Given the description of an element on the screen output the (x, y) to click on. 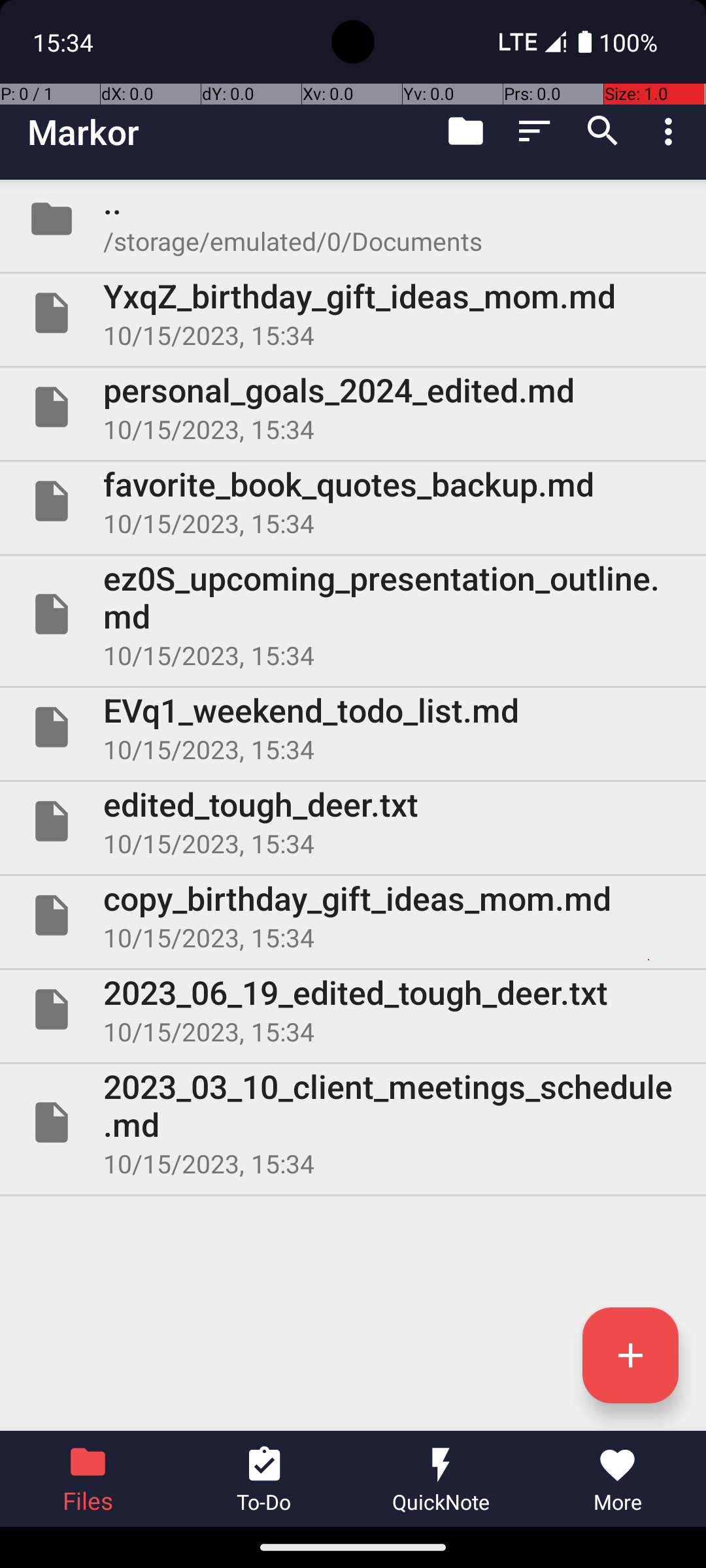
File YxqZ_birthday_gift_ideas_mom.md  Element type: android.widget.LinearLayout (353, 312)
File personal_goals_2024_edited.md  Element type: android.widget.LinearLayout (353, 406)
File favorite_book_quotes_backup.md  Element type: android.widget.LinearLayout (353, 500)
File ez0S_upcoming_presentation_outline.md  Element type: android.widget.LinearLayout (353, 613)
File EVq1_weekend_todo_list.md  Element type: android.widget.LinearLayout (353, 726)
File edited_tough_deer.txt  Element type: android.widget.LinearLayout (353, 821)
File copy_birthday_gift_ideas_mom.md  Element type: android.widget.LinearLayout (353, 915)
File 2023_06_19_edited_tough_deer.txt  Element type: android.widget.LinearLayout (353, 1009)
File 2023_03_10_client_meetings_schedule.md  Element type: android.widget.LinearLayout (353, 1122)
